Given the description of an element on the screen output the (x, y) to click on. 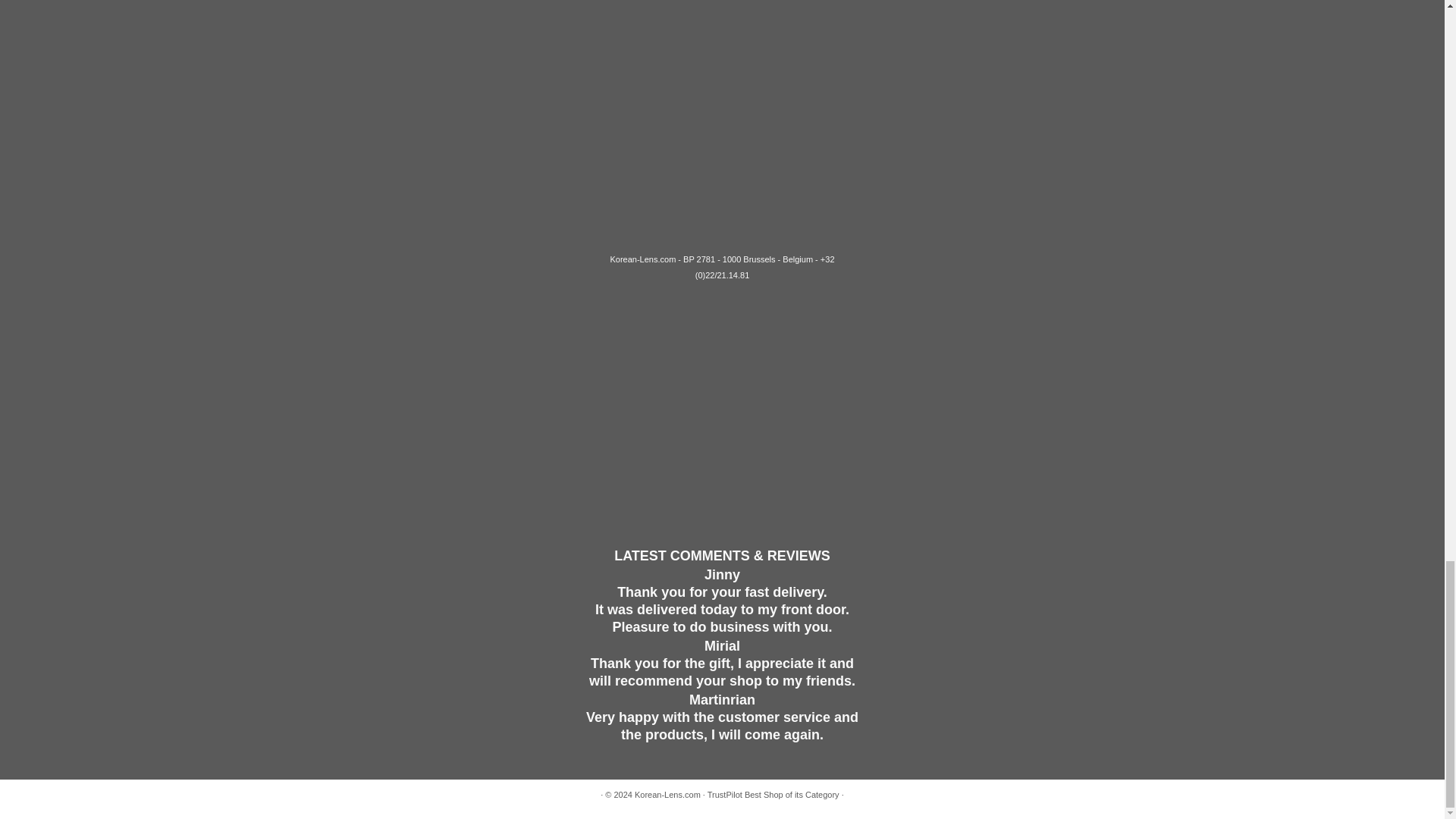
Buy Now (418, 29)
Buy Now (1024, 29)
Korean-Lens.com (667, 795)
